Given the description of an element on the screen output the (x, y) to click on. 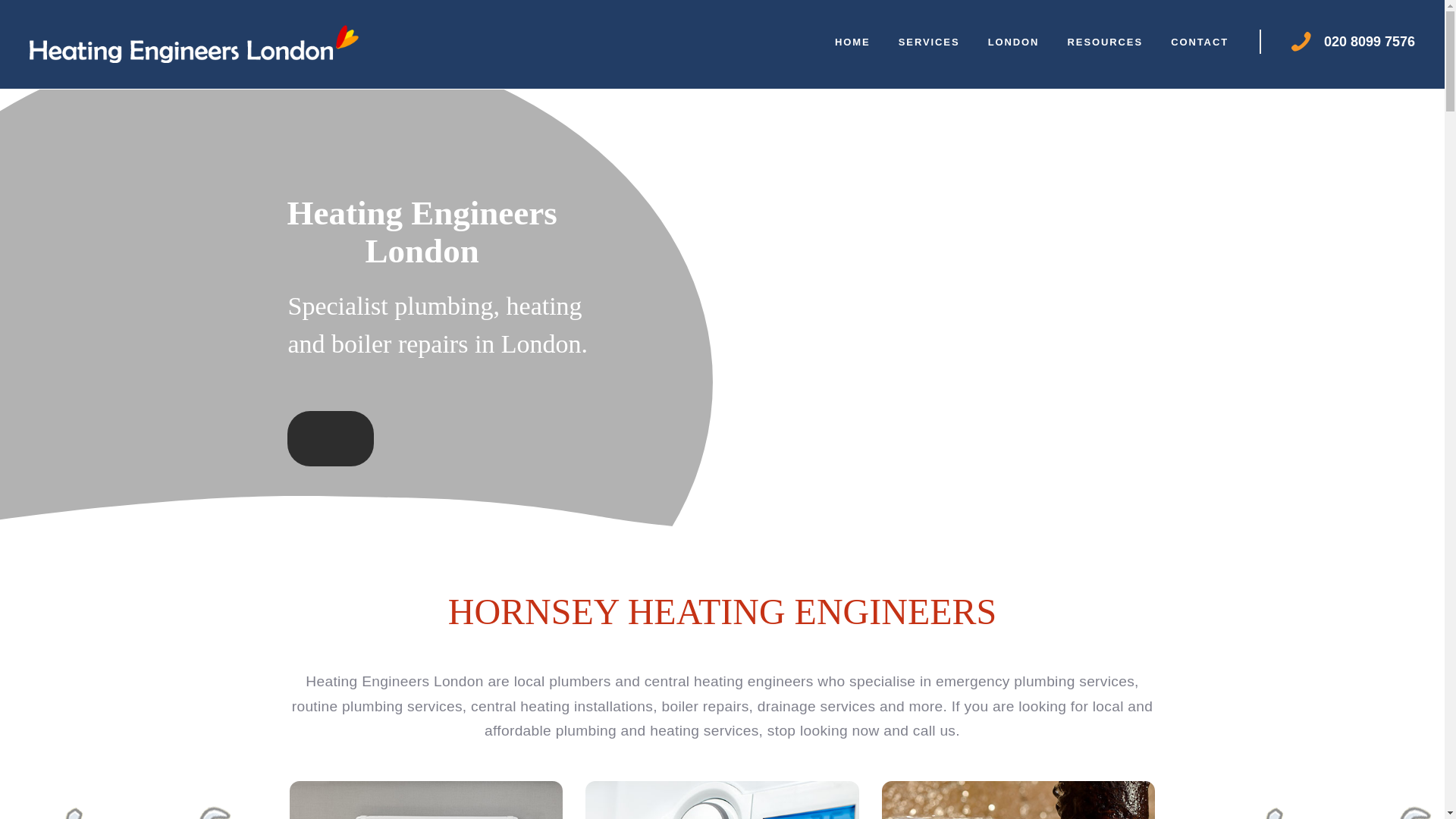
CONTACT (1200, 41)
RESOURCES (1104, 41)
central-heating-repairs-london (425, 800)
boiler-repair-install-london (722, 800)
london-plumbers (1018, 800)
HOME (852, 41)
SERVICES (928, 41)
LONDON (1013, 41)
020 8099 7576 (1369, 41)
